Given the description of an element on the screen output the (x, y) to click on. 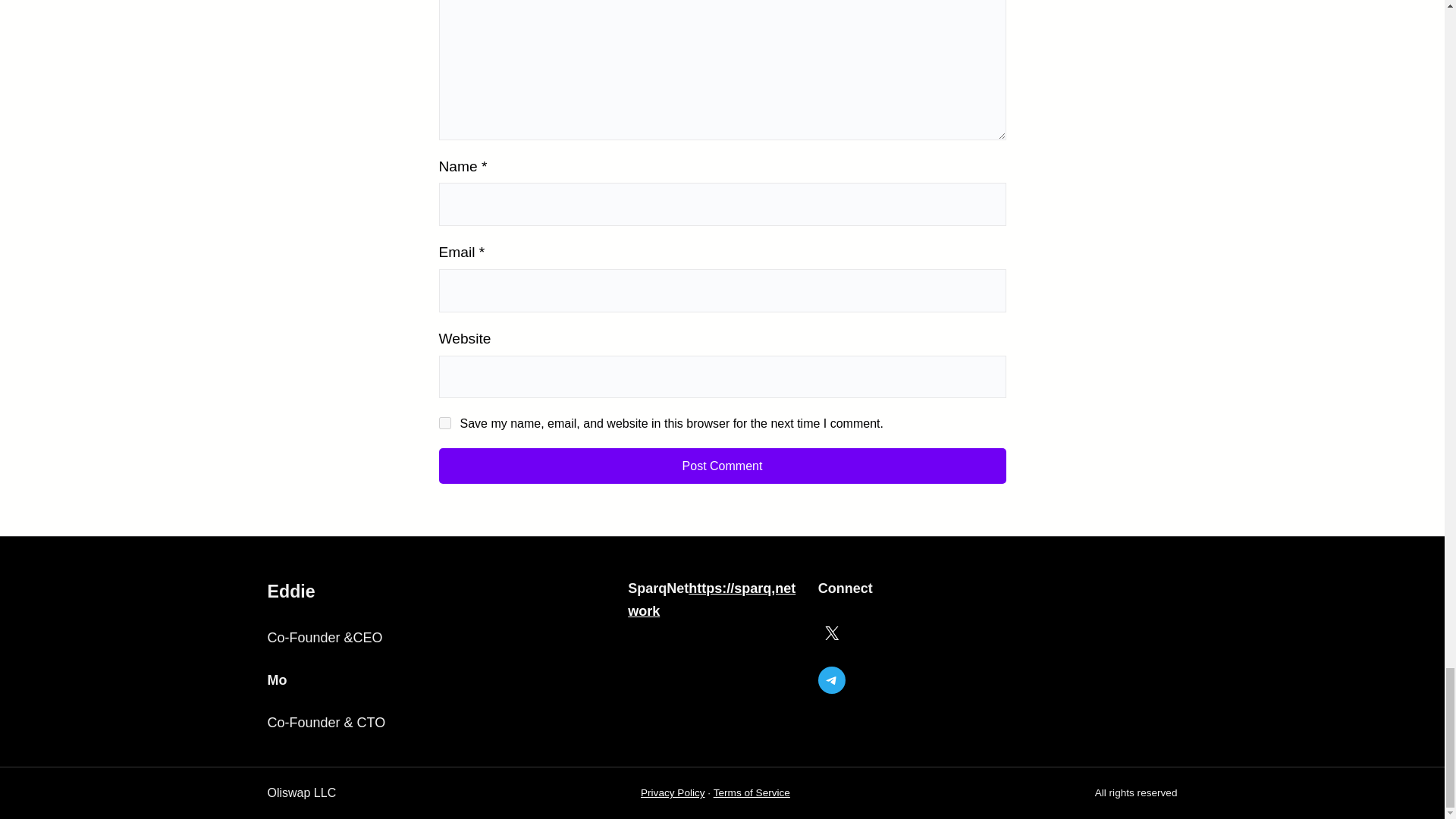
Telegram (831, 679)
Post Comment (722, 465)
Privacy Policy (672, 792)
Terms of Service (751, 792)
X (831, 633)
yes (443, 422)
Post Comment (722, 465)
